Given the description of an element on the screen output the (x, y) to click on. 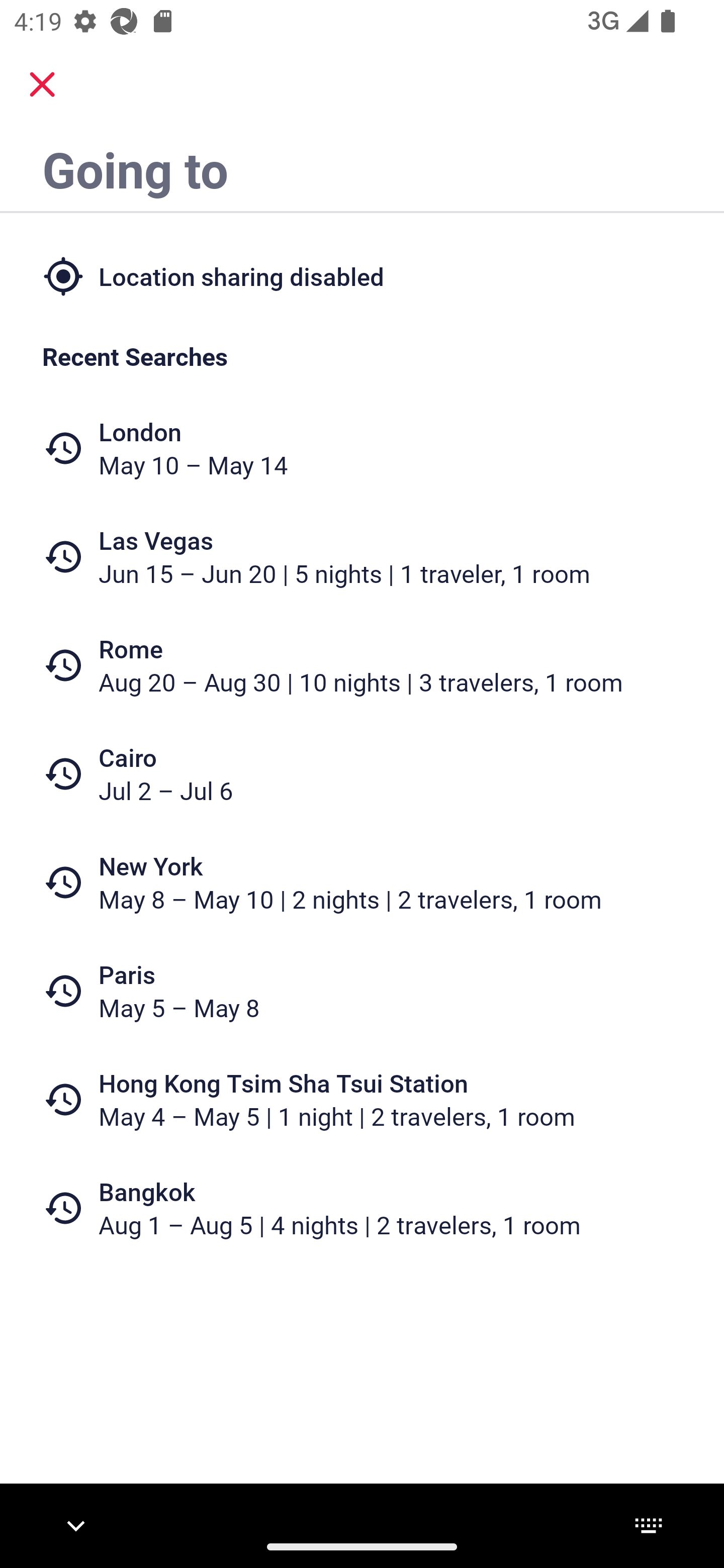
close. (42, 84)
Location sharing disabled (362, 275)
London May 10 – May 14 (362, 448)
Cairo Jul 2 – Jul 6 (362, 773)
Paris May 5 – May 8 (362, 990)
